Given the description of an element on the screen output the (x, y) to click on. 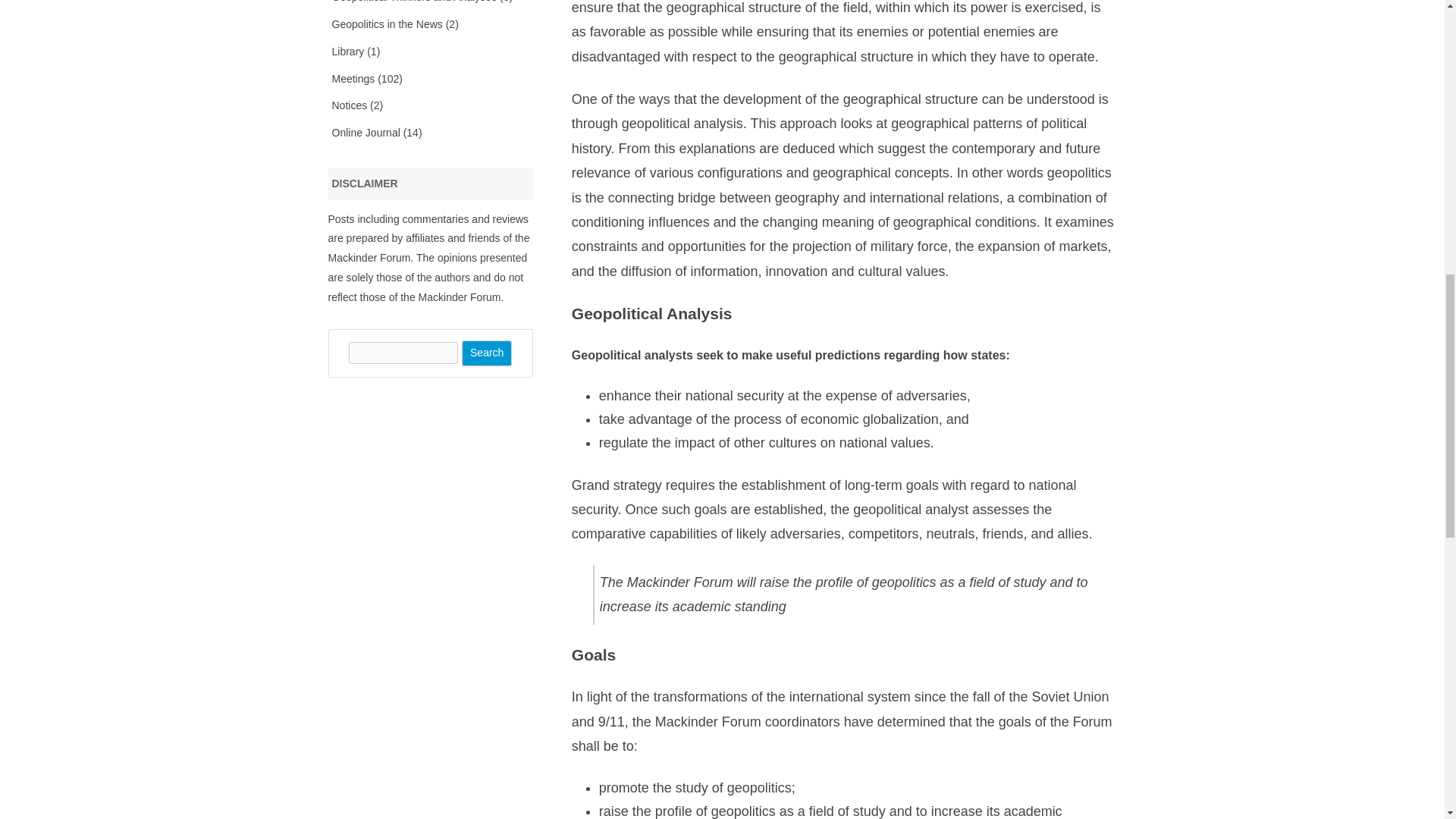
Meetings (353, 78)
Geopolitics in the News (386, 24)
Search (486, 353)
Online Journal (365, 132)
Notices (349, 105)
Geopolitical Thinkers and Analyses (414, 1)
Search (486, 353)
Library (348, 51)
